Given the description of an element on the screen output the (x, y) to click on. 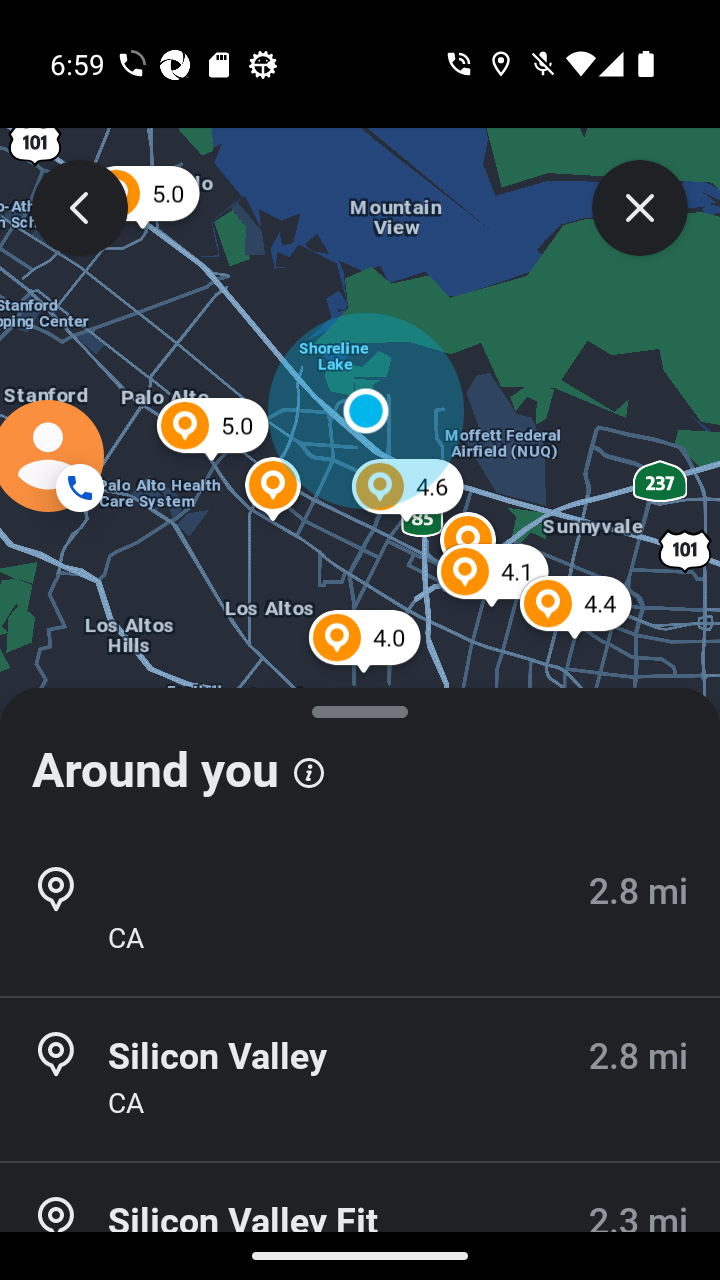
Around you (360, 760)
2.8 mi CA (360, 914)
Silicon Valley 2.8 mi CA (360, 1079)
Silicon Valley Fit 2.3 mi Open now 5.0 (360, 1221)
